Given the description of an element on the screen output the (x, y) to click on. 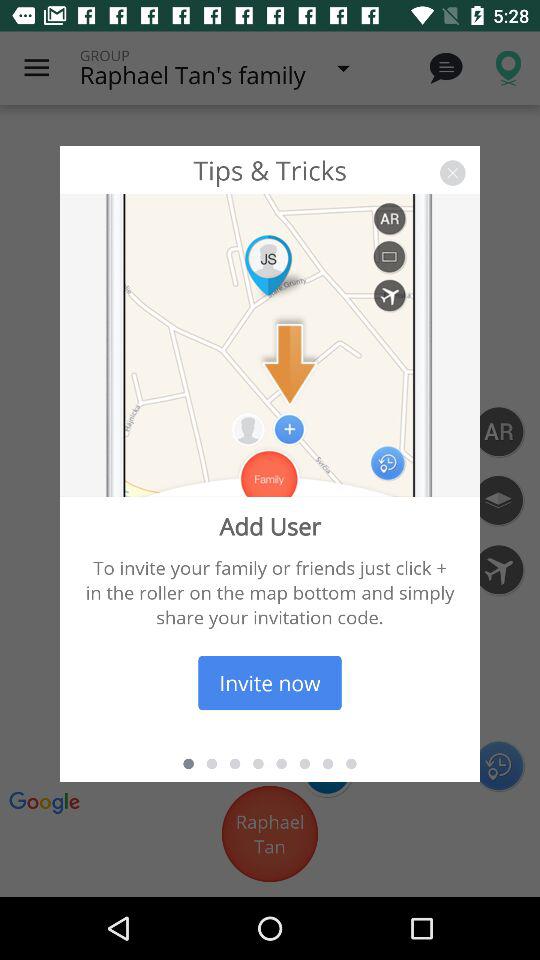
close (452, 172)
